Given the description of an element on the screen output the (x, y) to click on. 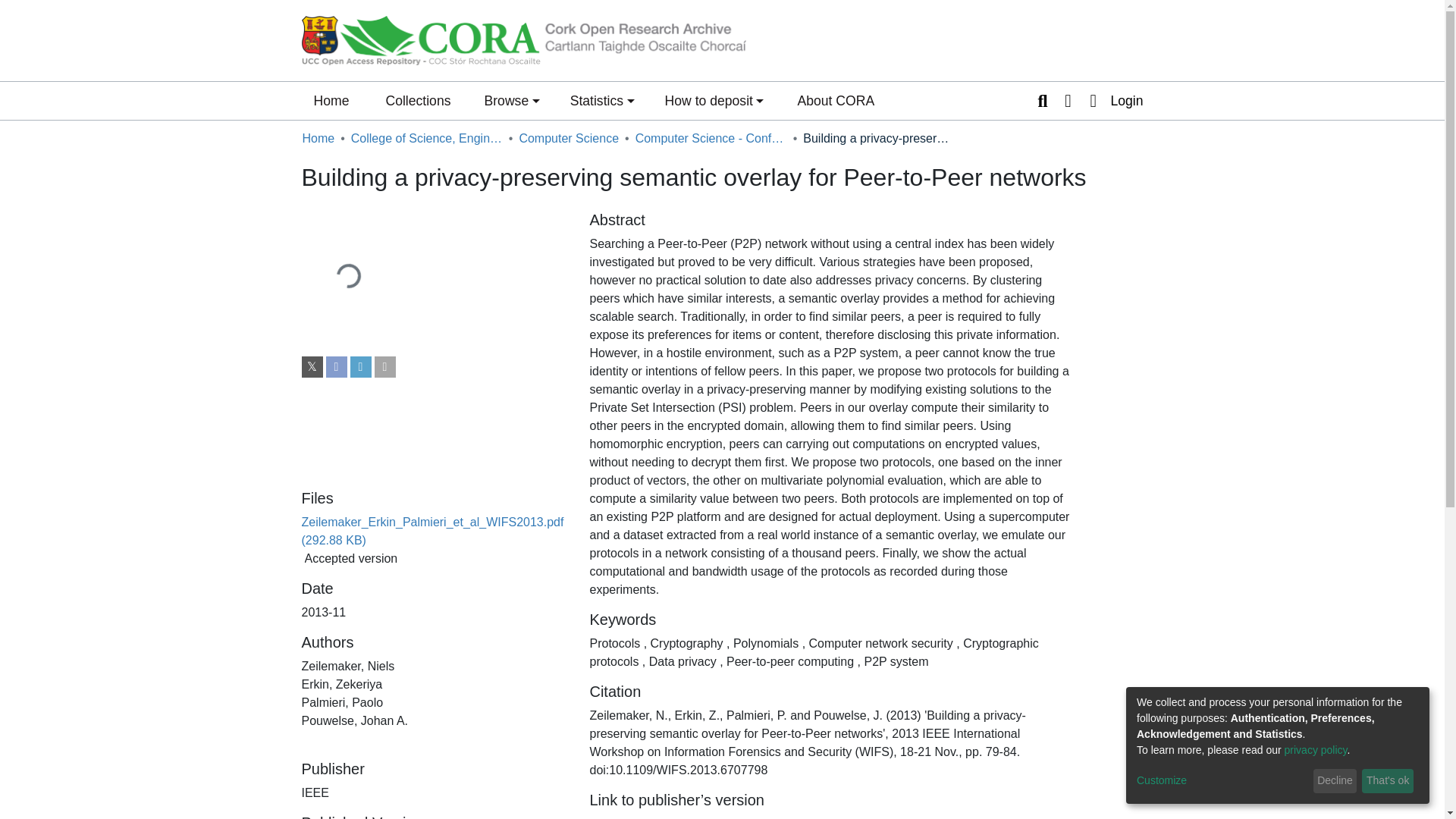
Home (331, 100)
Home (317, 138)
Home (331, 100)
About CORA (835, 100)
Search (1041, 100)
Login (1111, 100)
Collections (417, 100)
Statistics (602, 100)
About CORA (835, 100)
Computer Science - Conference Items (710, 138)
That's ok (1387, 781)
Customize (1222, 780)
How to deposit (714, 100)
privacy policy (1316, 749)
College of Science, Engineering and Food Science (426, 138)
